Given the description of an element on the screen output the (x, y) to click on. 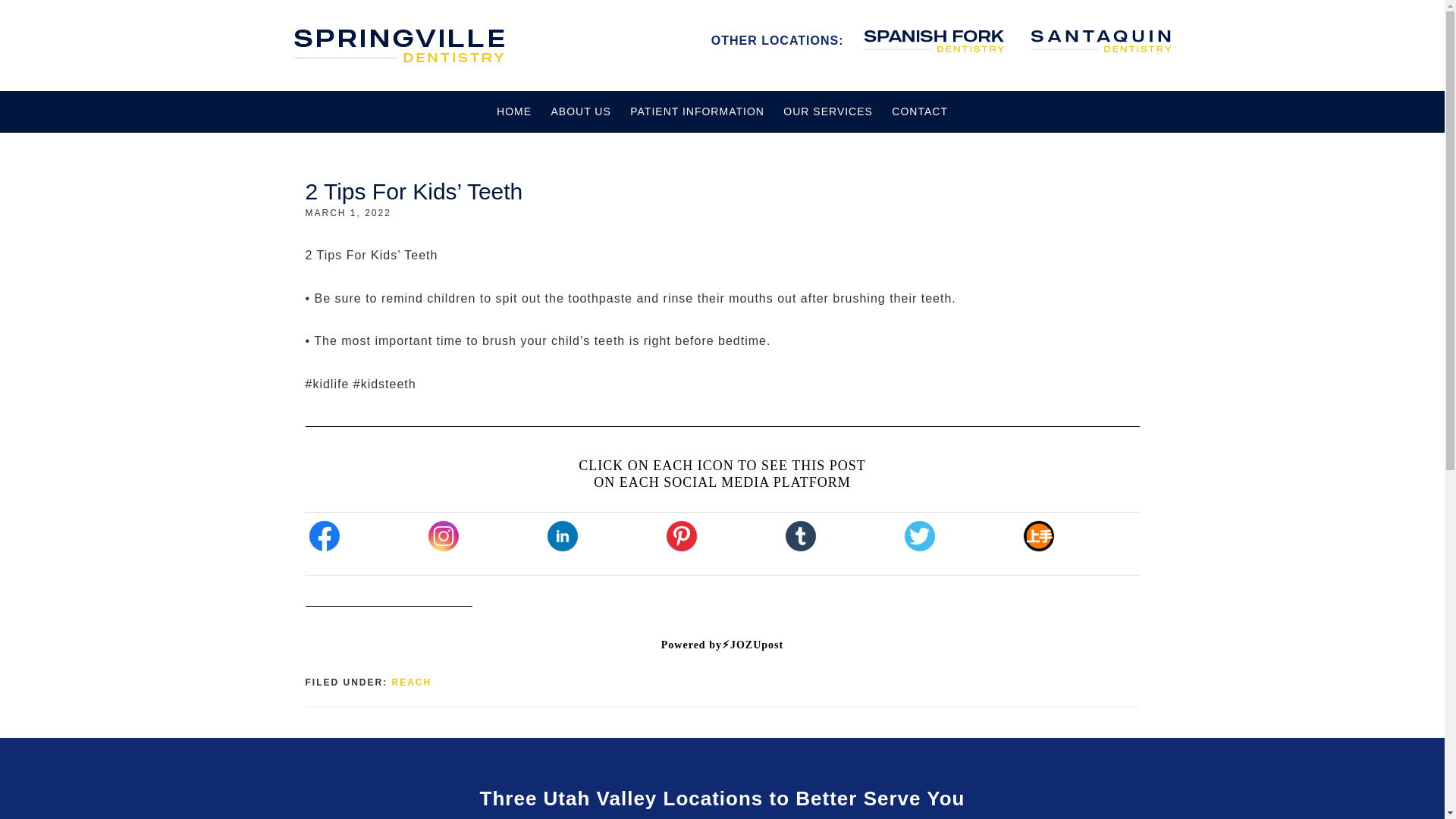
OUR SERVICES (828, 111)
HOME (513, 111)
ABOUT US (580, 111)
PATIENT INFORMATION (697, 111)
